Given the description of an element on the screen output the (x, y) to click on. 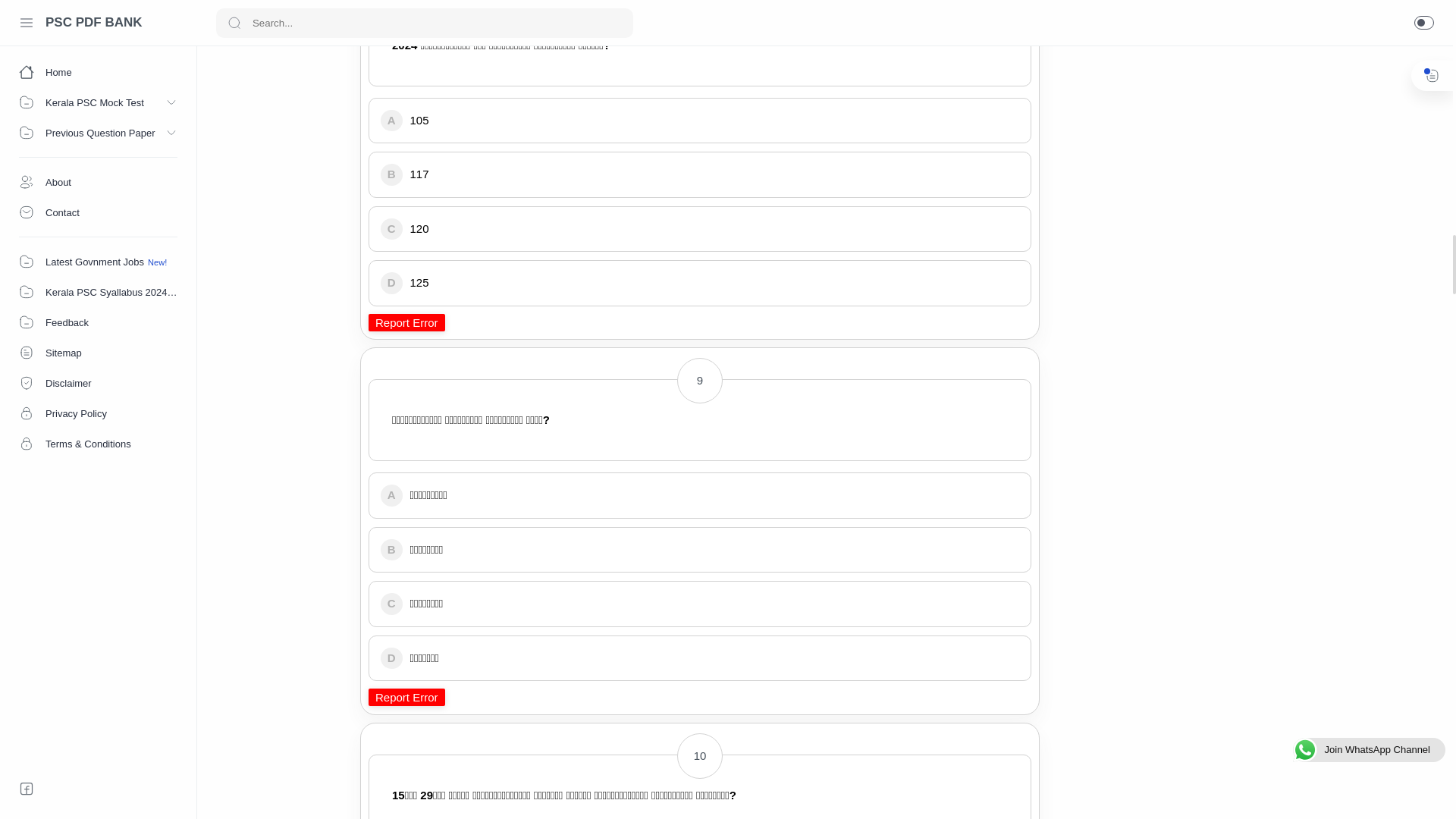
Report Error (406, 696)
Report Error (406, 322)
